Given the description of an element on the screen output the (x, y) to click on. 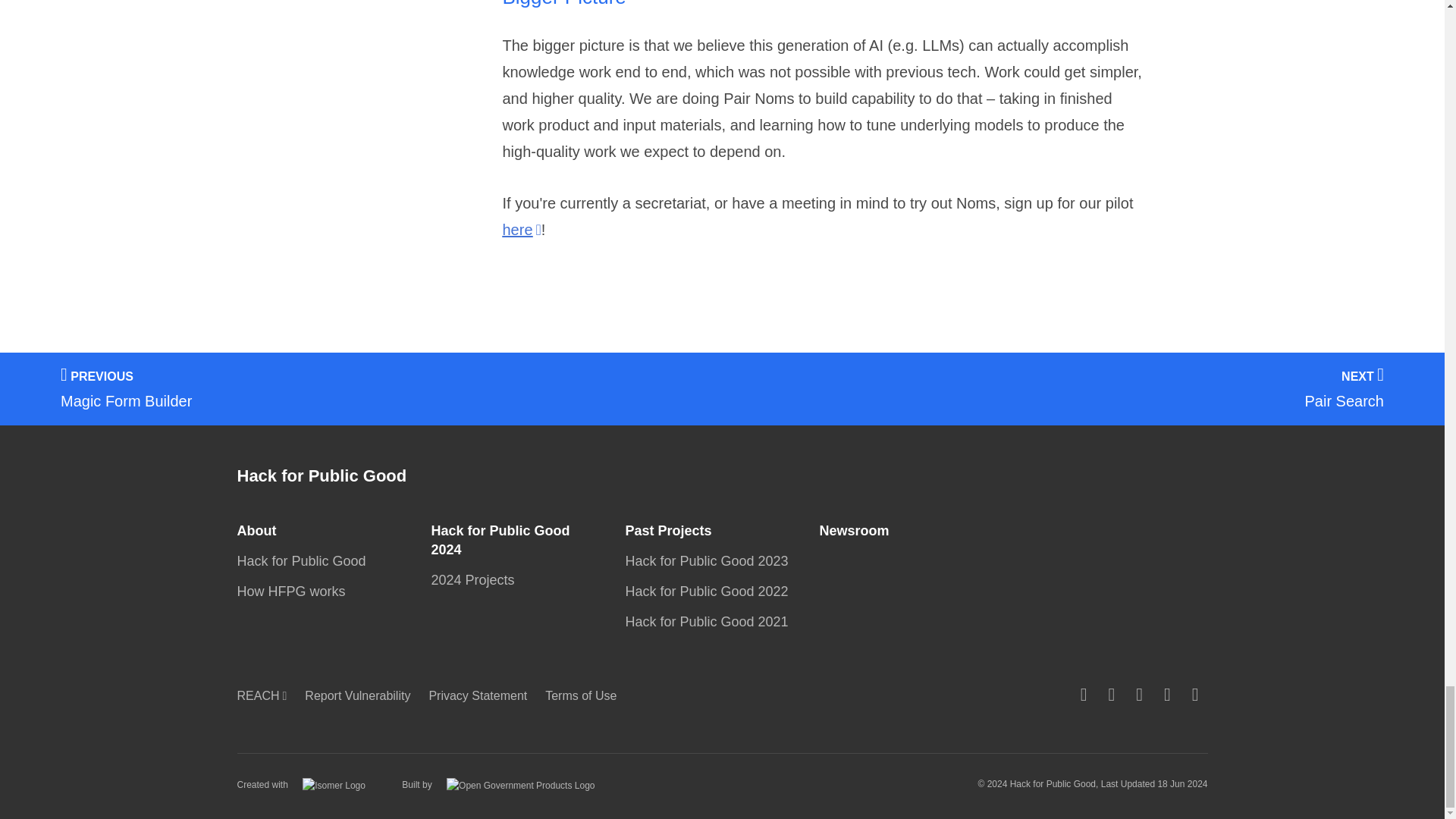
Link to reach.gov.sg (265, 695)
